Given the description of an element on the screen output the (x, y) to click on. 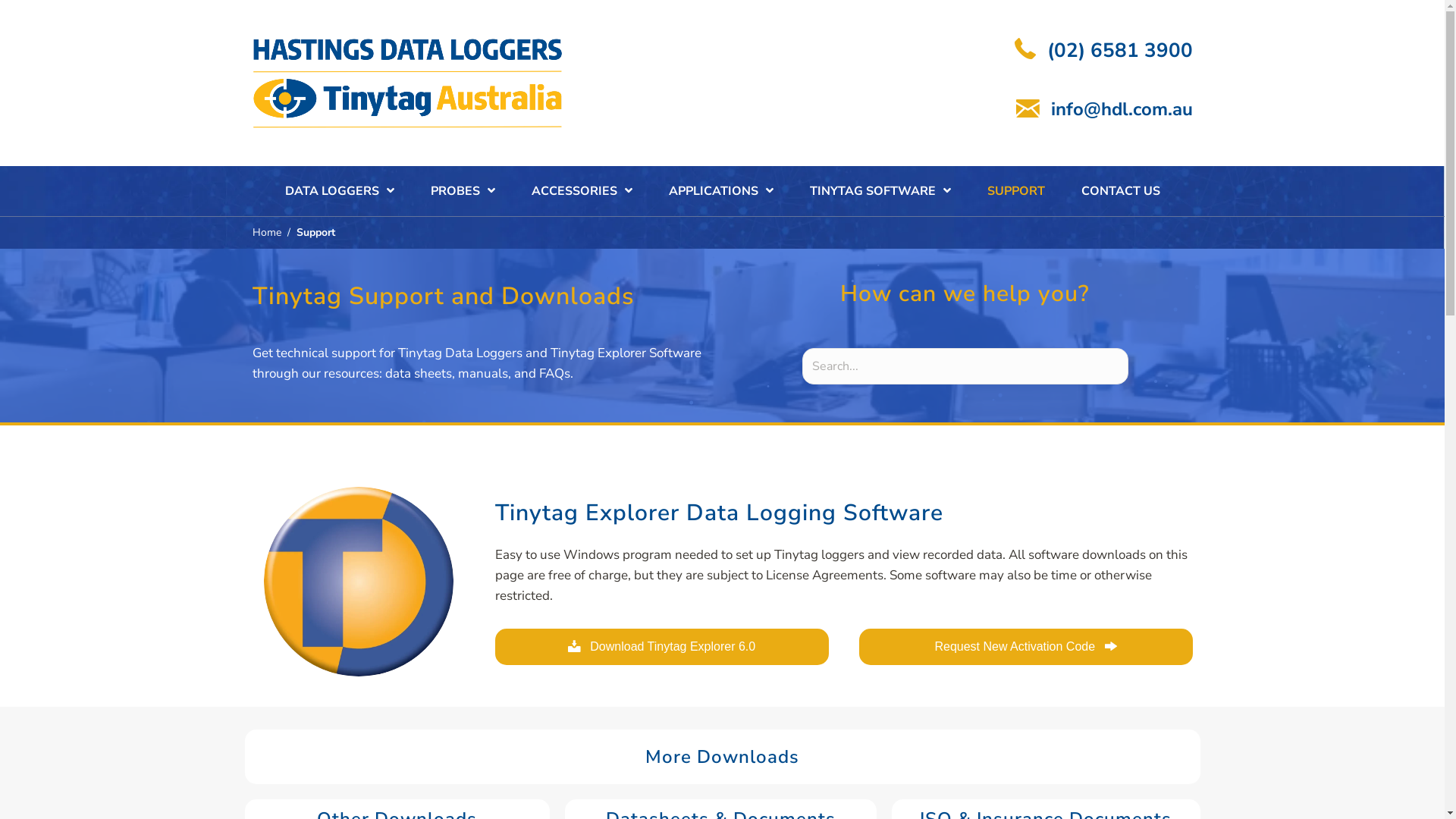
APPLICATIONS Element type: text (721, 190)
SUPPORT Element type: text (1015, 190)
tinytag-explorer-cd Element type: hover (358, 581)
Request New Activation Code Element type: text (1025, 646)
PROBES Element type: text (462, 190)
info@hdl.com.au Element type: text (1121, 108)
DATA LOGGERS Element type: text (339, 190)
(02) 6581 3900 Element type: text (1119, 50)
Download Tinytag Explorer 6.0 Element type: text (661, 646)
CONTACT US Element type: text (1120, 190)
hastings-data-loggers-logo-450x159 Element type: hover (409, 82)
TINYTAG SOFTWARE Element type: text (880, 190)
ACCESSORIES Element type: text (581, 190)
Home Element type: text (265, 232)
